Given the description of an element on the screen output the (x, y) to click on. 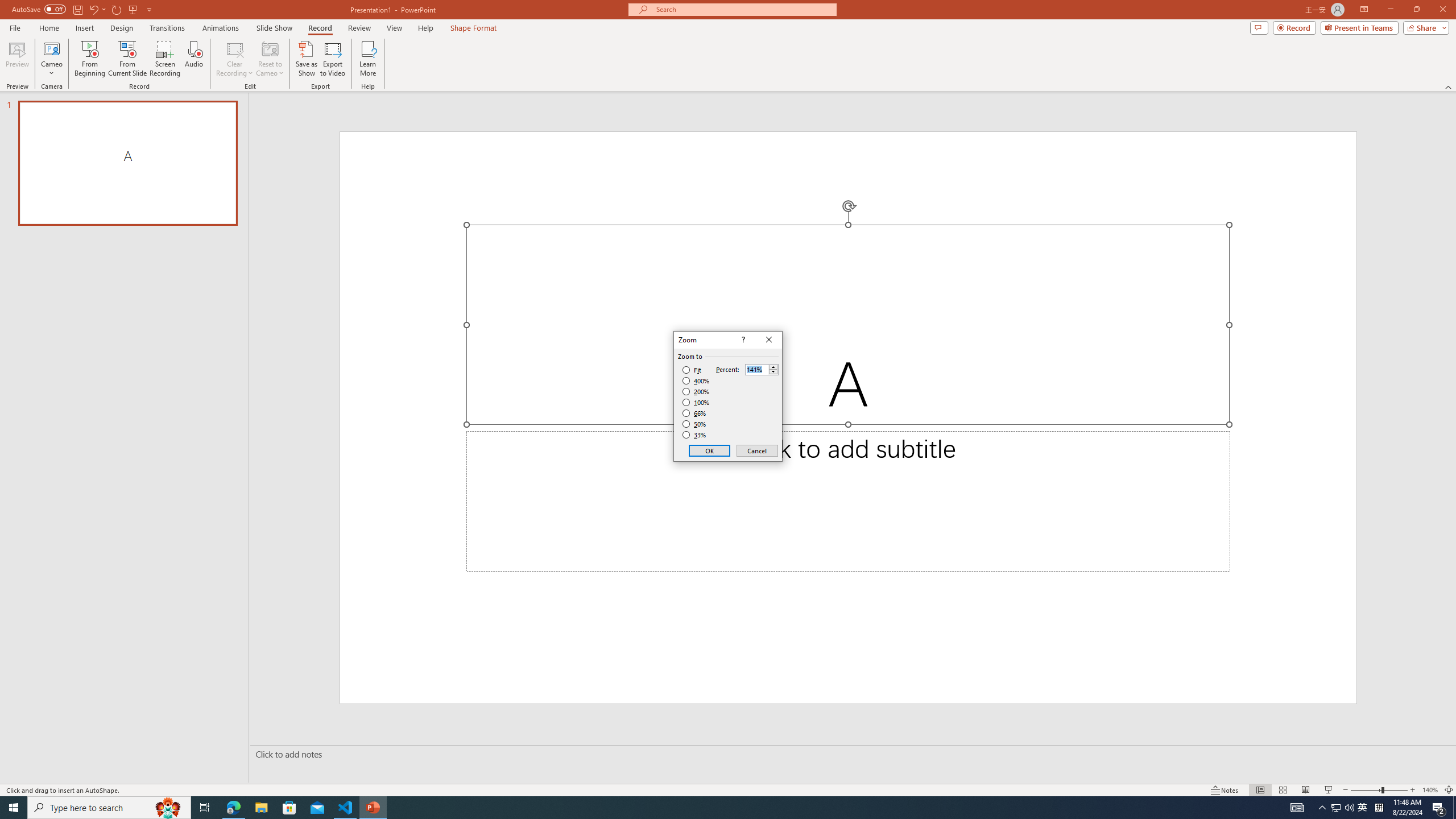
Fit (691, 370)
